Given the description of an element on the screen output the (x, y) to click on. 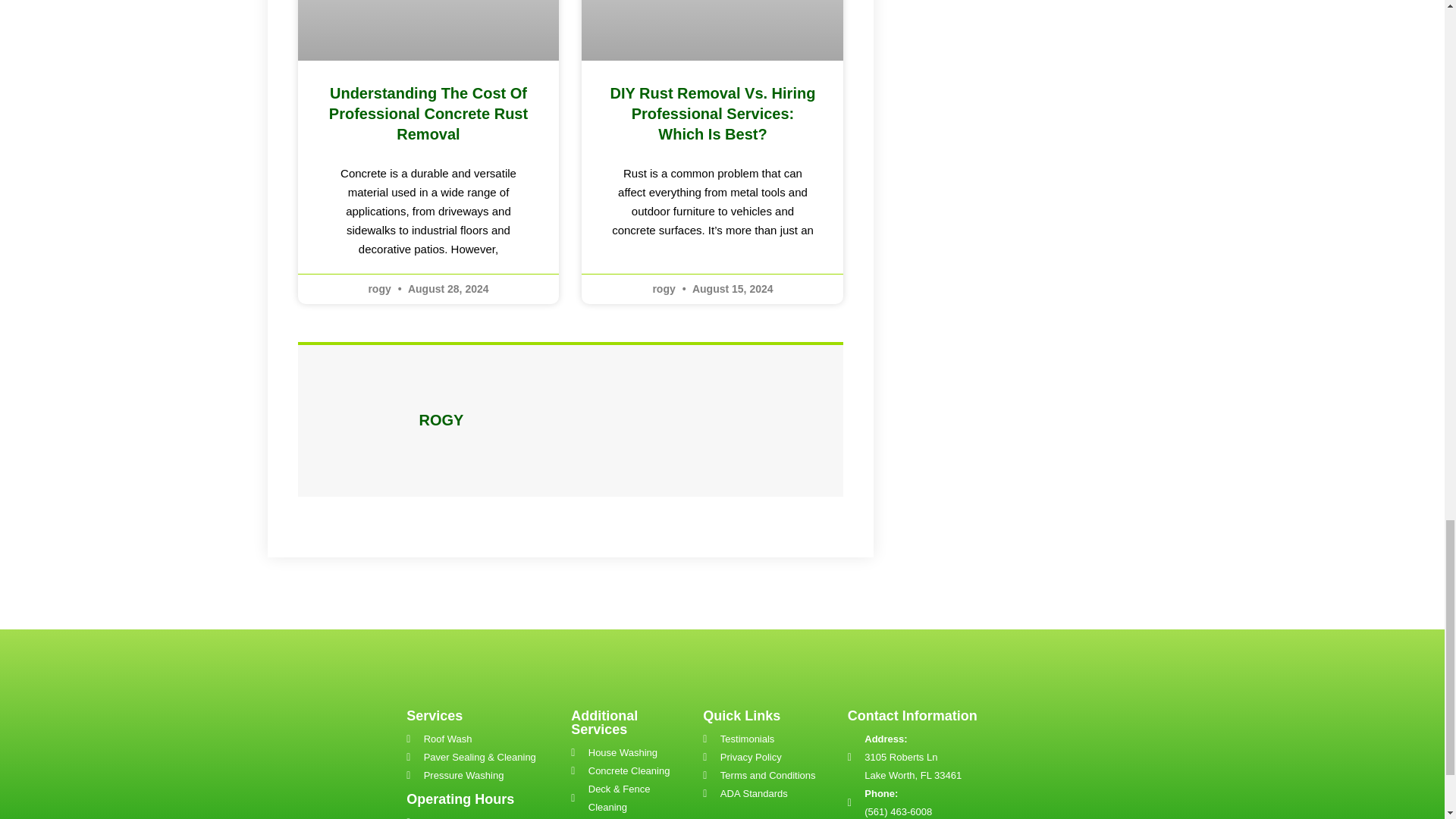
Pressure Washing (481, 775)
Roof Wash (481, 739)
House Washing (628, 752)
Understanding The Cost Of Professional Concrete Rust Removal (428, 113)
Concrete Cleaning (628, 771)
